Given the description of an element on the screen output the (x, y) to click on. 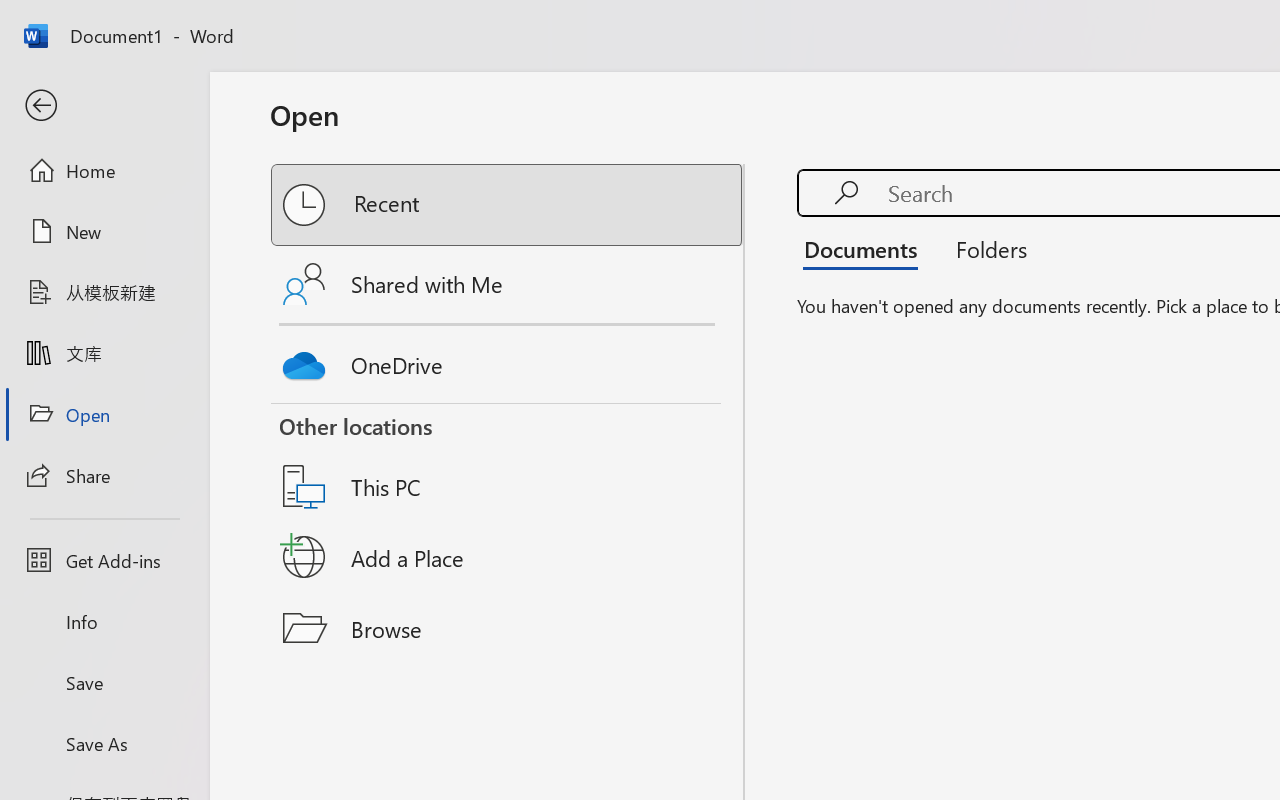
Info (104, 621)
Shared with Me (507, 283)
Browse (507, 627)
Folders (984, 248)
Get Add-ins (104, 560)
This PC (507, 461)
Documents (866, 248)
Recent (507, 205)
